Given the description of an element on the screen output the (x, y) to click on. 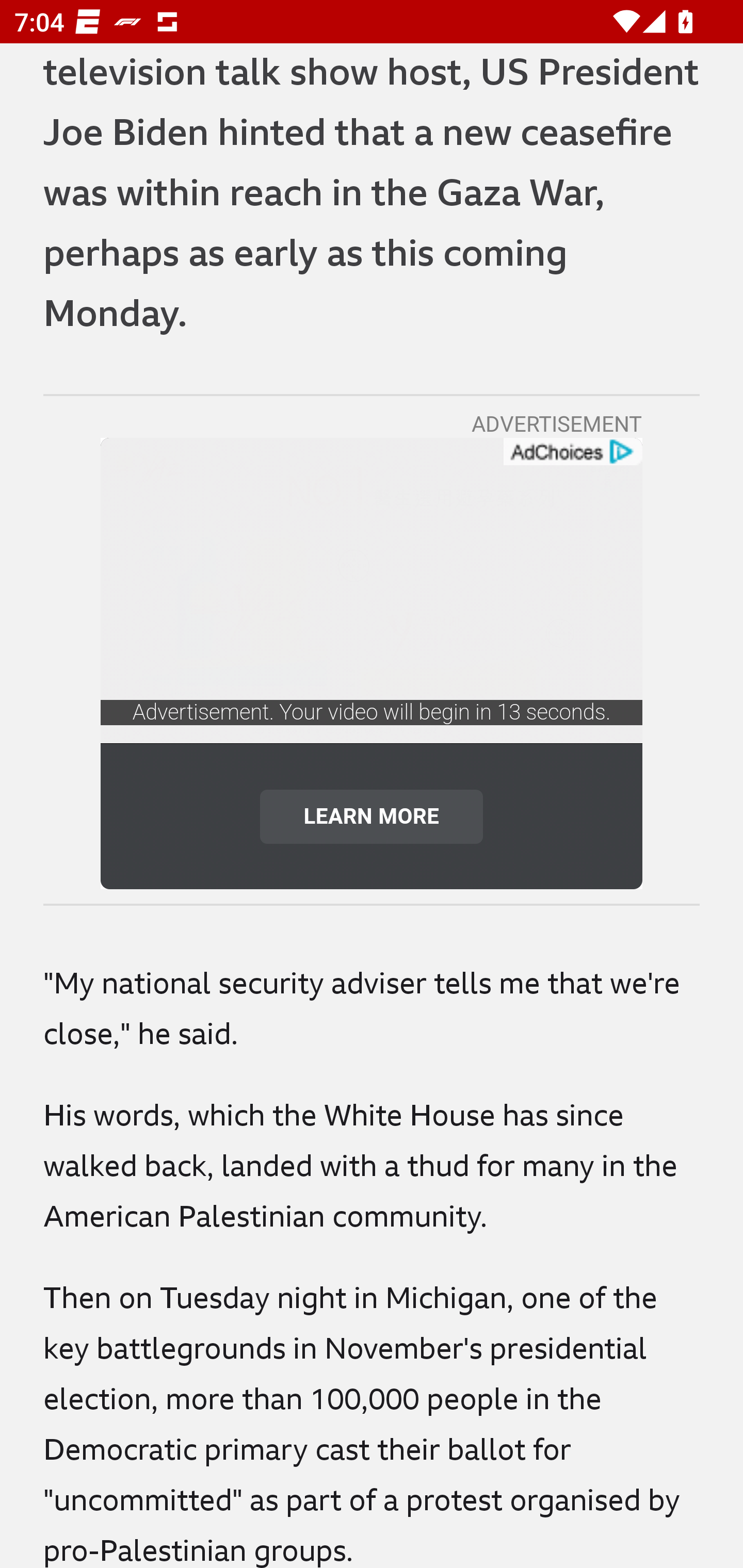
get?name=admarker-full-tl (571, 452)
LEARN MORE (371, 816)
